Given the description of an element on the screen output the (x, y) to click on. 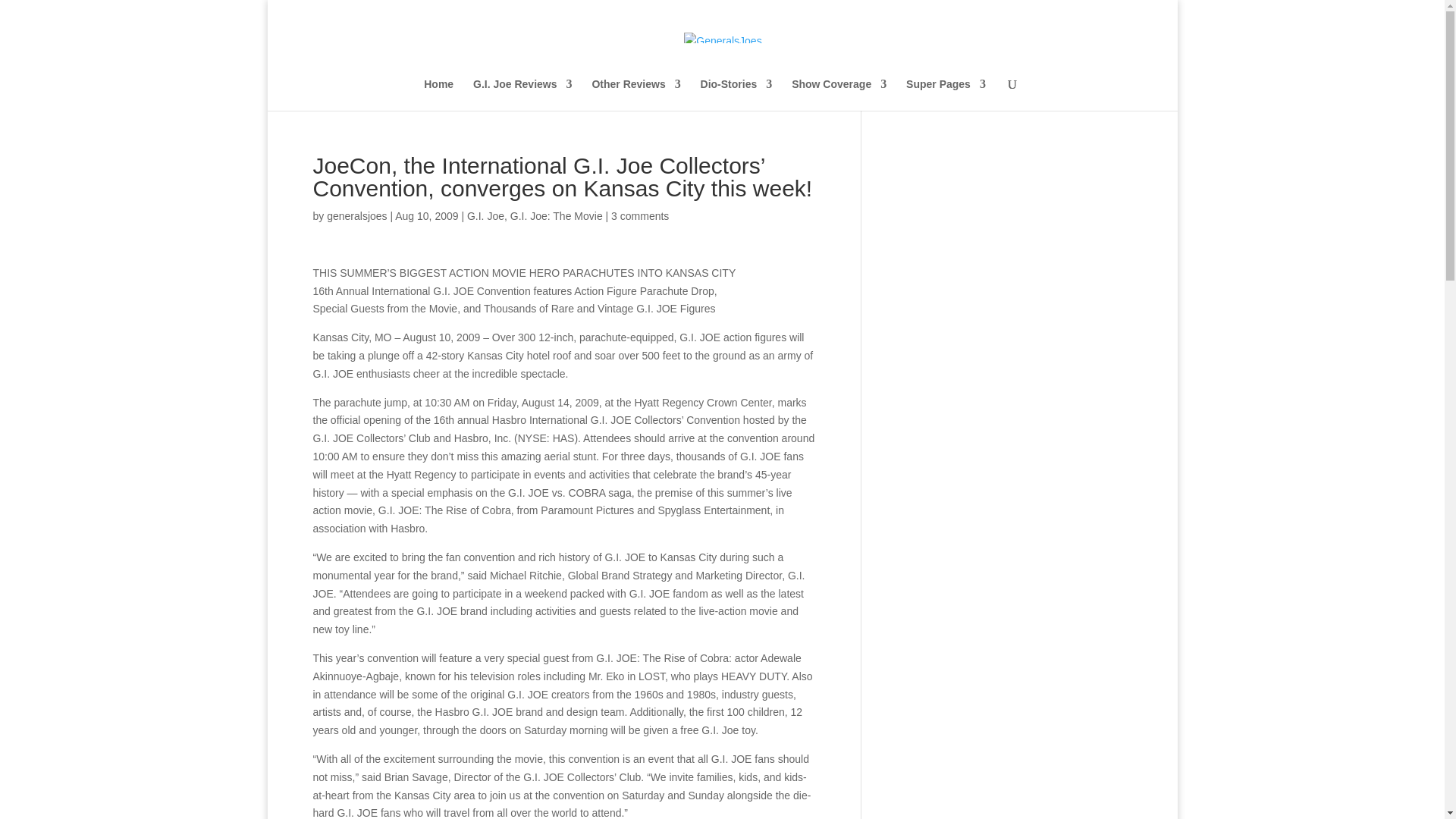
G.I. Joe Reviews (522, 94)
Home (437, 94)
Other Reviews (635, 94)
Posts by generalsjoes (356, 215)
Dio-Stories (736, 94)
